Given the description of an element on the screen output the (x, y) to click on. 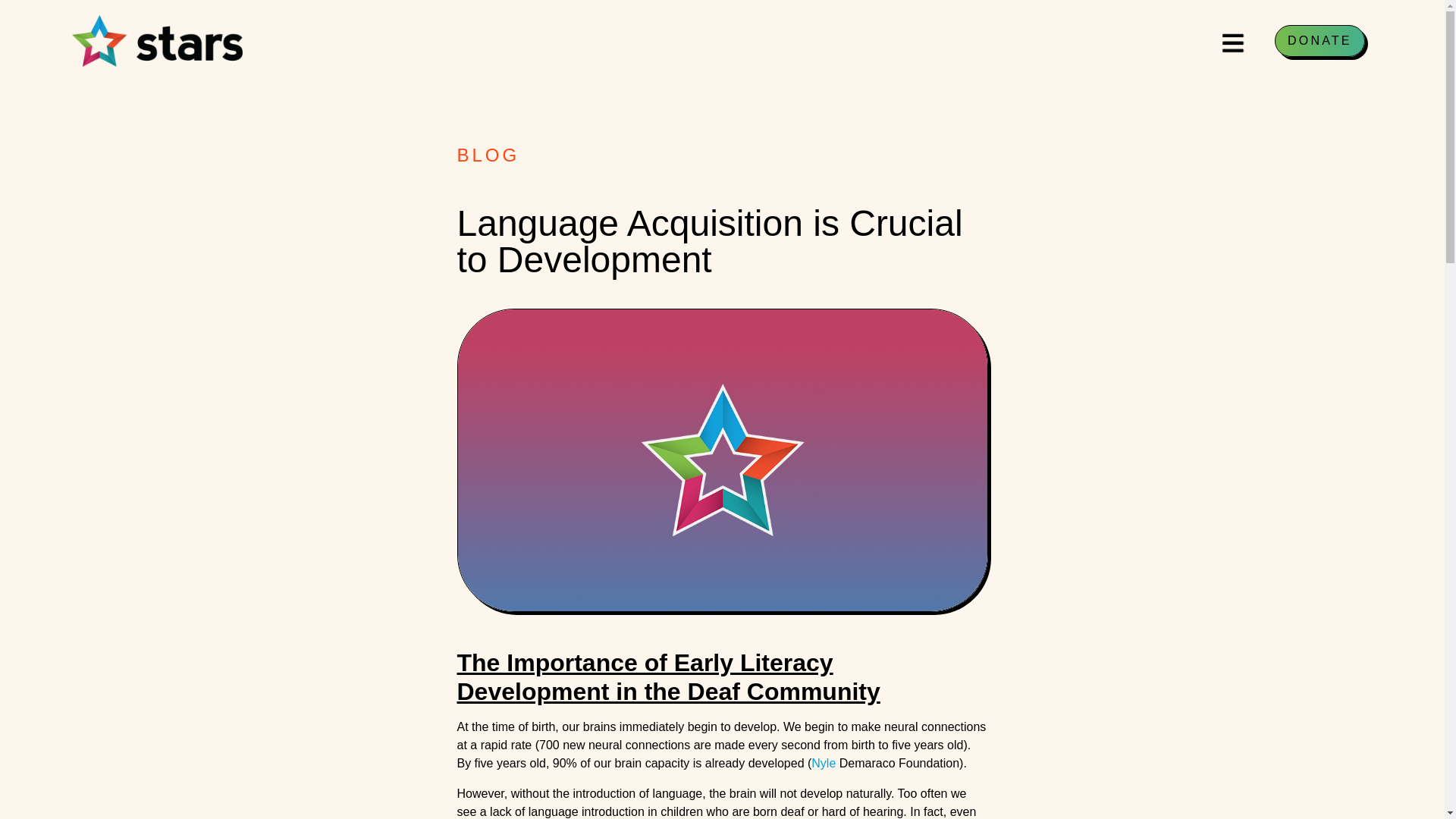
DONATE (1320, 40)
Nyle (824, 762)
